Given the description of an element on the screen output the (x, y) to click on. 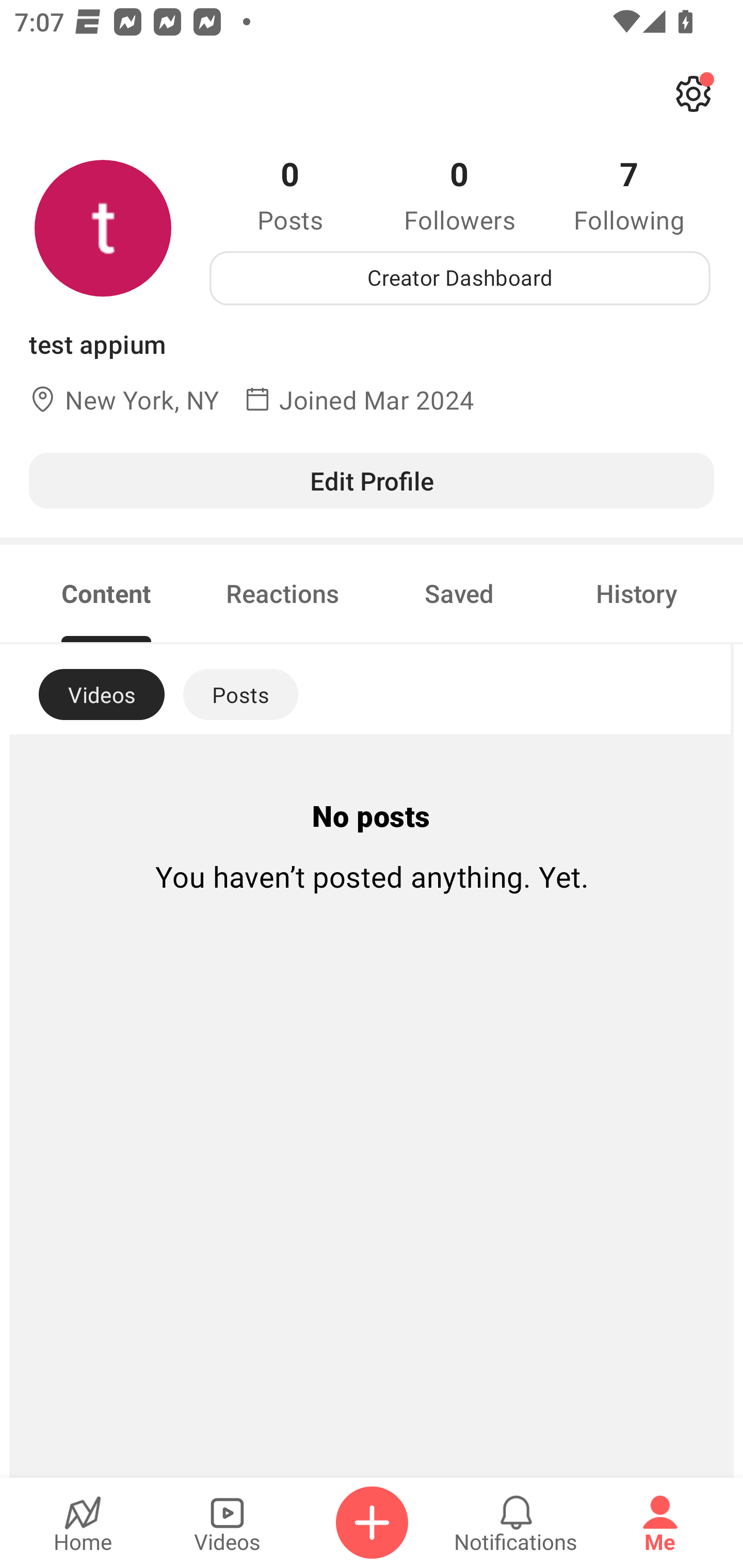
0 Followers (459, 194)
7 Following (629, 194)
Creator Dashboard (459, 277)
Edit Profile (371, 480)
Reactions (282, 593)
Saved (459, 593)
History (636, 593)
Posts (240, 694)
Home (83, 1522)
Videos (227, 1522)
Notifications (516, 1522)
